Given the description of an element on the screen output the (x, y) to click on. 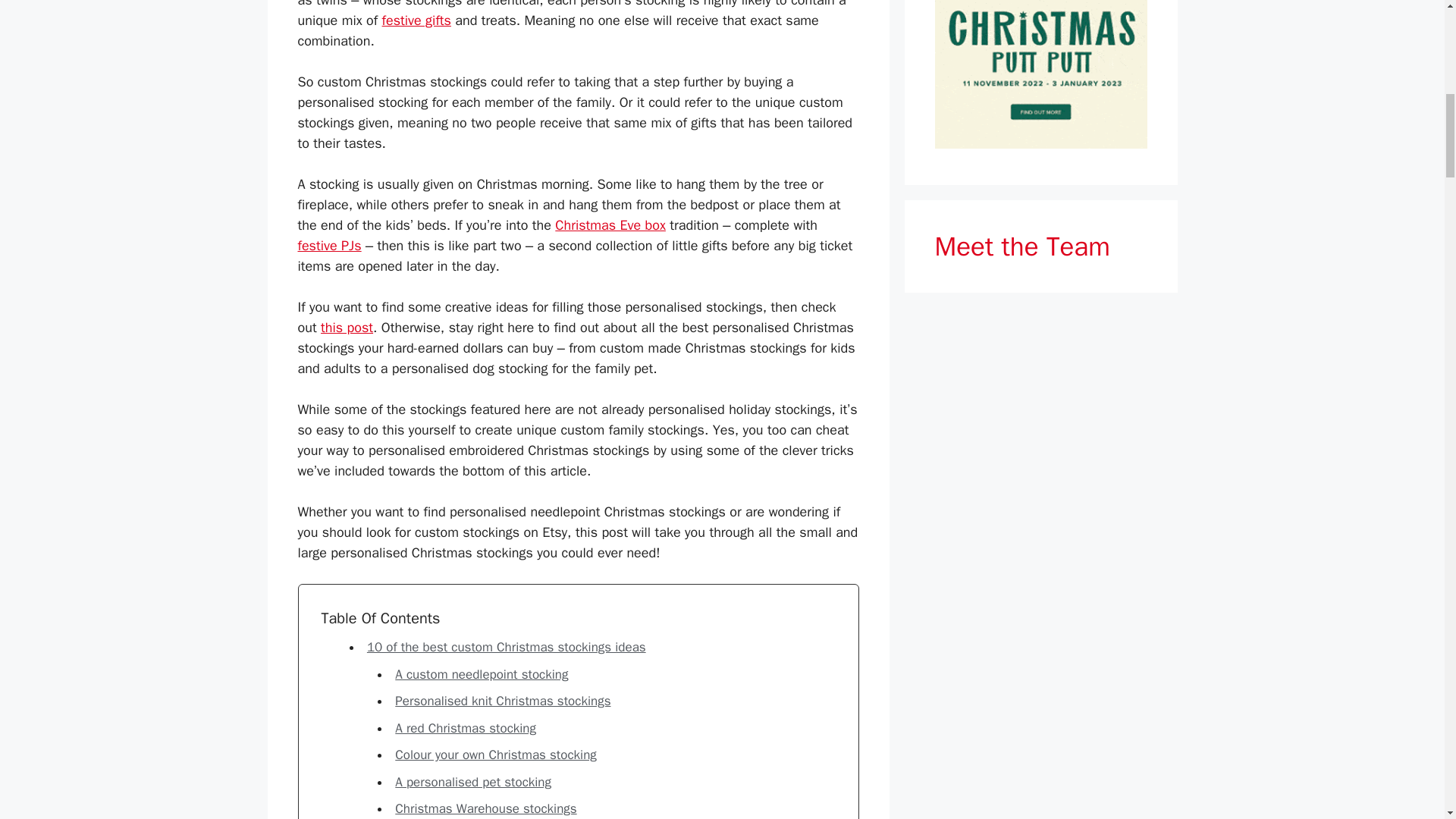
A custom needlepoint stocking (480, 674)
Colour your own Christmas stocking (495, 754)
Personalised knit Christmas stockings (502, 700)
A personalised pet stocking (472, 781)
this post (346, 327)
Christmas Eve box (609, 225)
A red Christmas stocking (464, 728)
festive PJs (329, 245)
Christmas Warehouse stockings (485, 808)
10 of the best custom Christmas stockings ideas (506, 647)
